Given the description of an element on the screen output the (x, y) to click on. 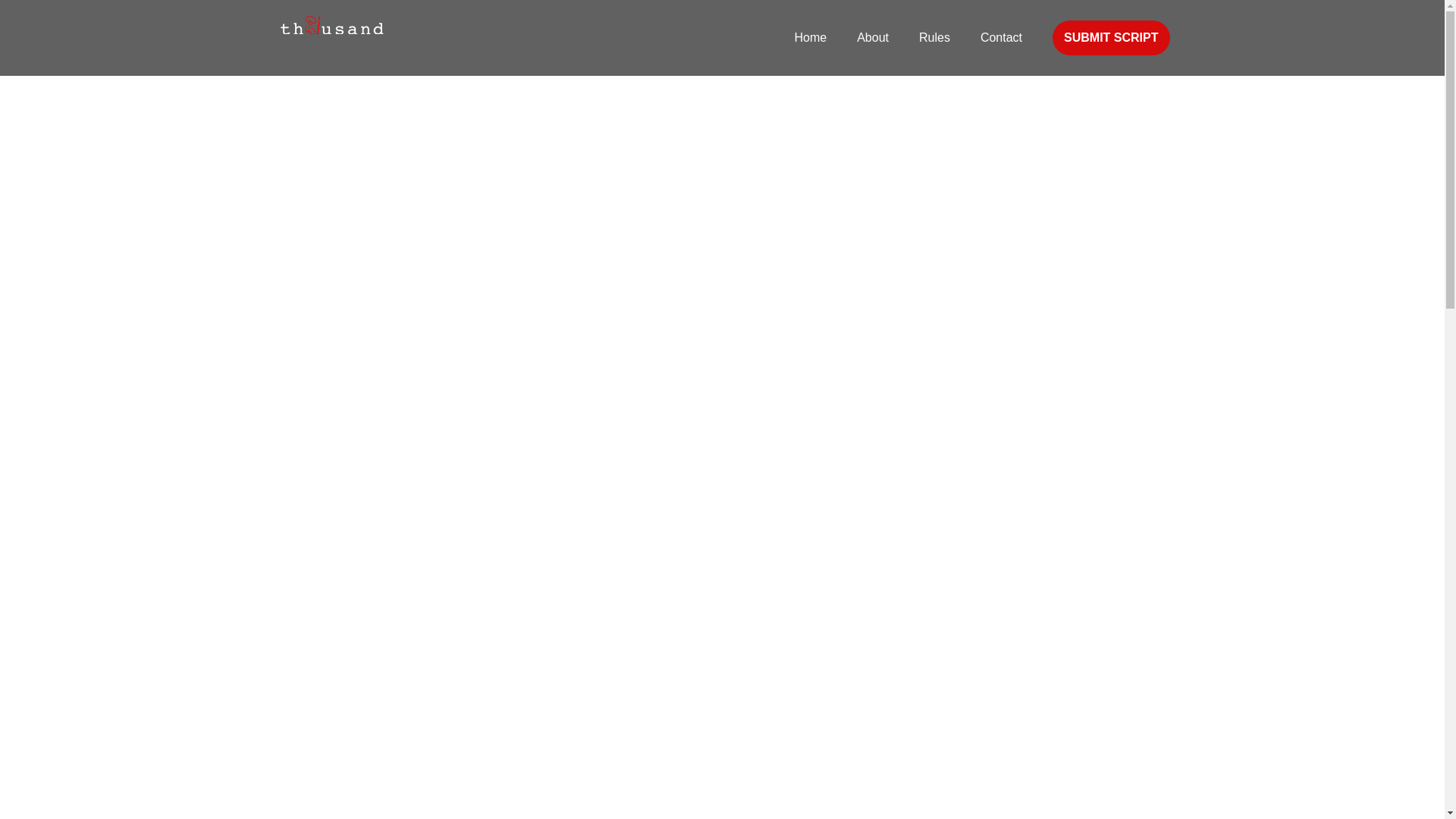
Contact (1000, 37)
About (872, 37)
SUBMIT SCRIPT (1110, 37)
Rules (934, 37)
Home (810, 37)
